Given the description of an element on the screen output the (x, y) to click on. 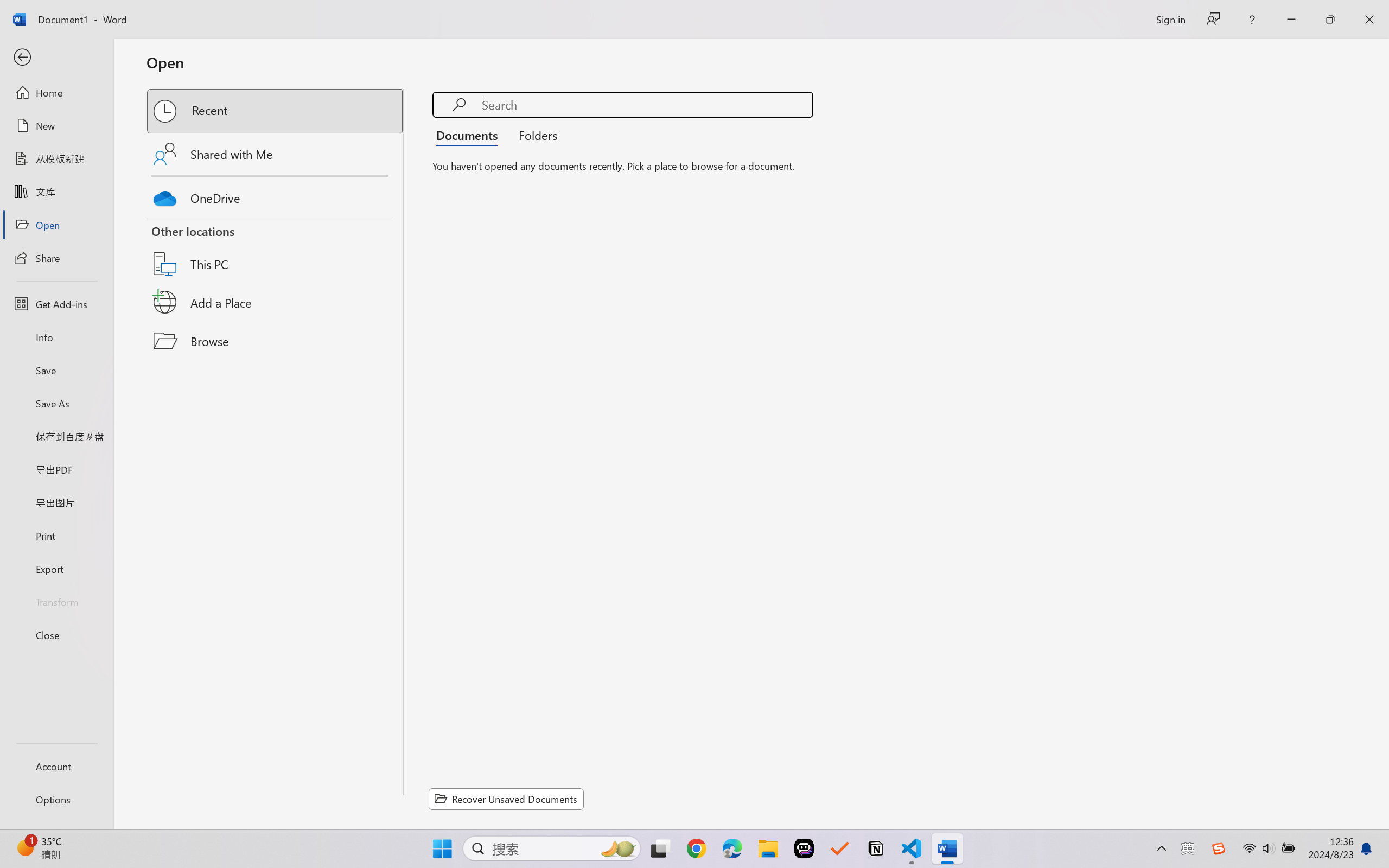
Back (56, 57)
New (56, 125)
Shared with Me (275, 153)
Recover Unsaved Documents (506, 798)
Print (56, 535)
Recent (275, 110)
Export (56, 568)
Folders (534, 134)
